Given the description of an element on the screen output the (x, y) to click on. 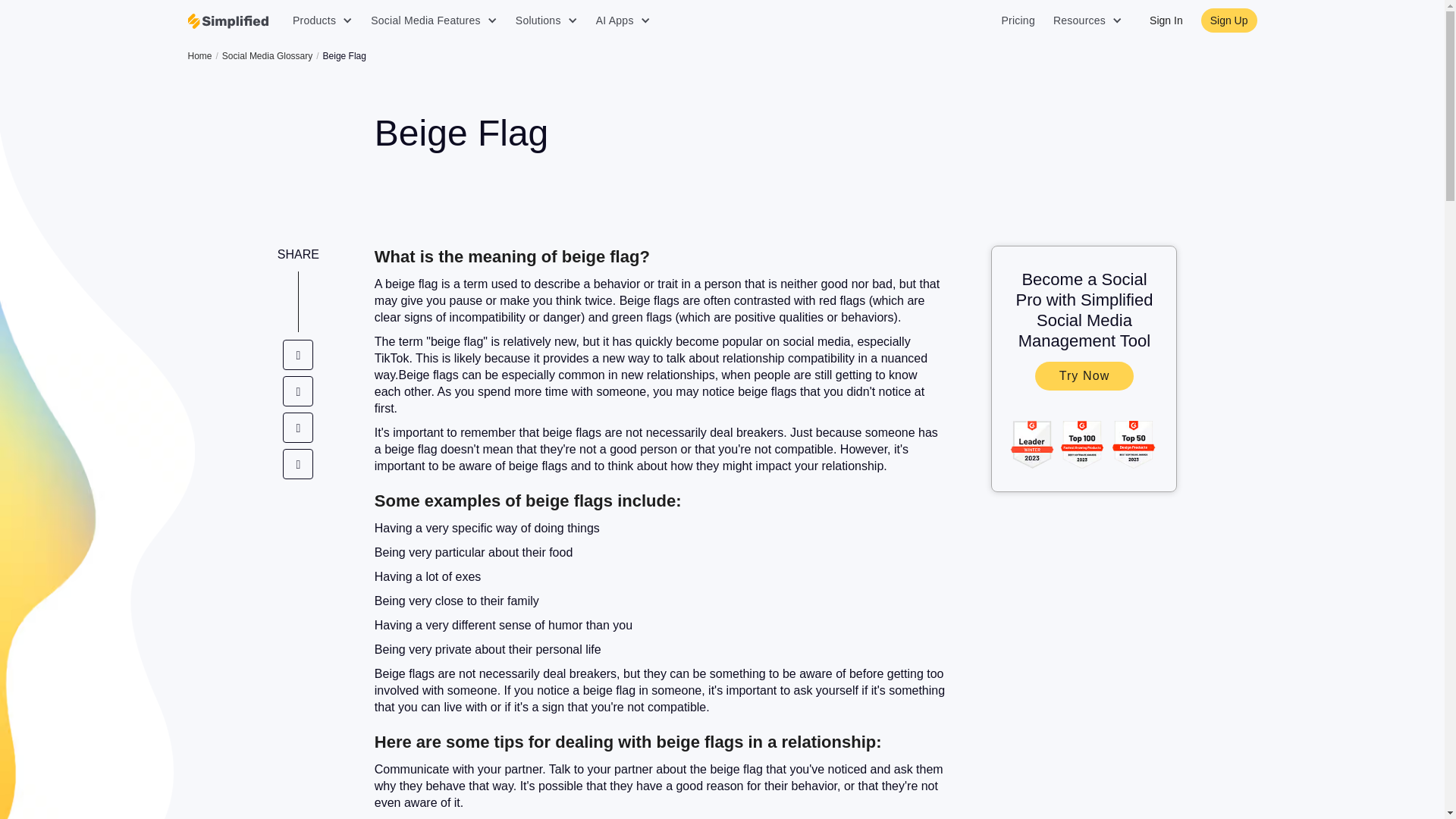
Simplified (228, 20)
